Given the description of an element on the screen output the (x, y) to click on. 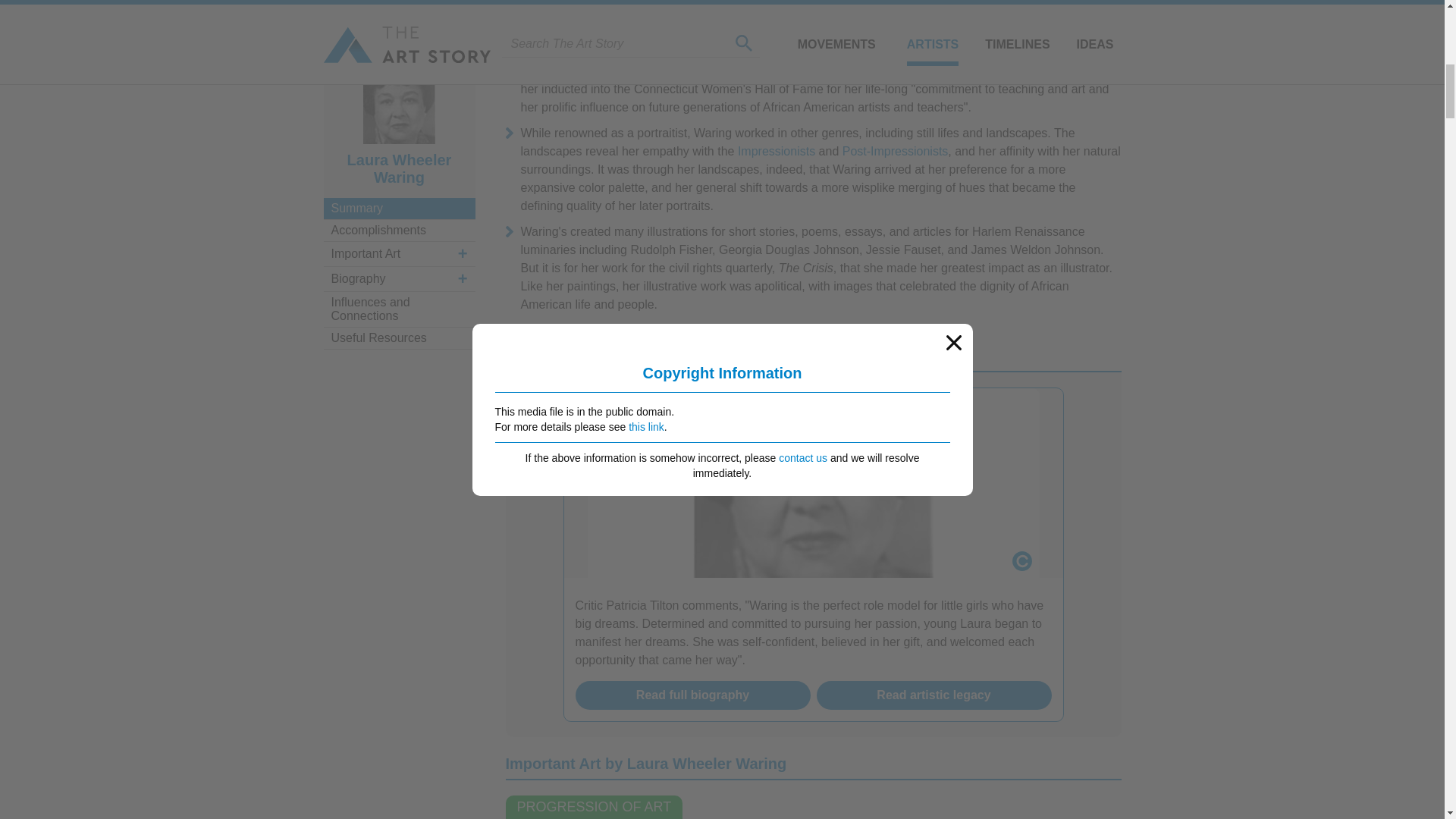
Read artistic legacy (933, 694)
Post-Impressionists (896, 151)
Read full biography (692, 694)
Impressionists (776, 151)
